Given the description of an element on the screen output the (x, y) to click on. 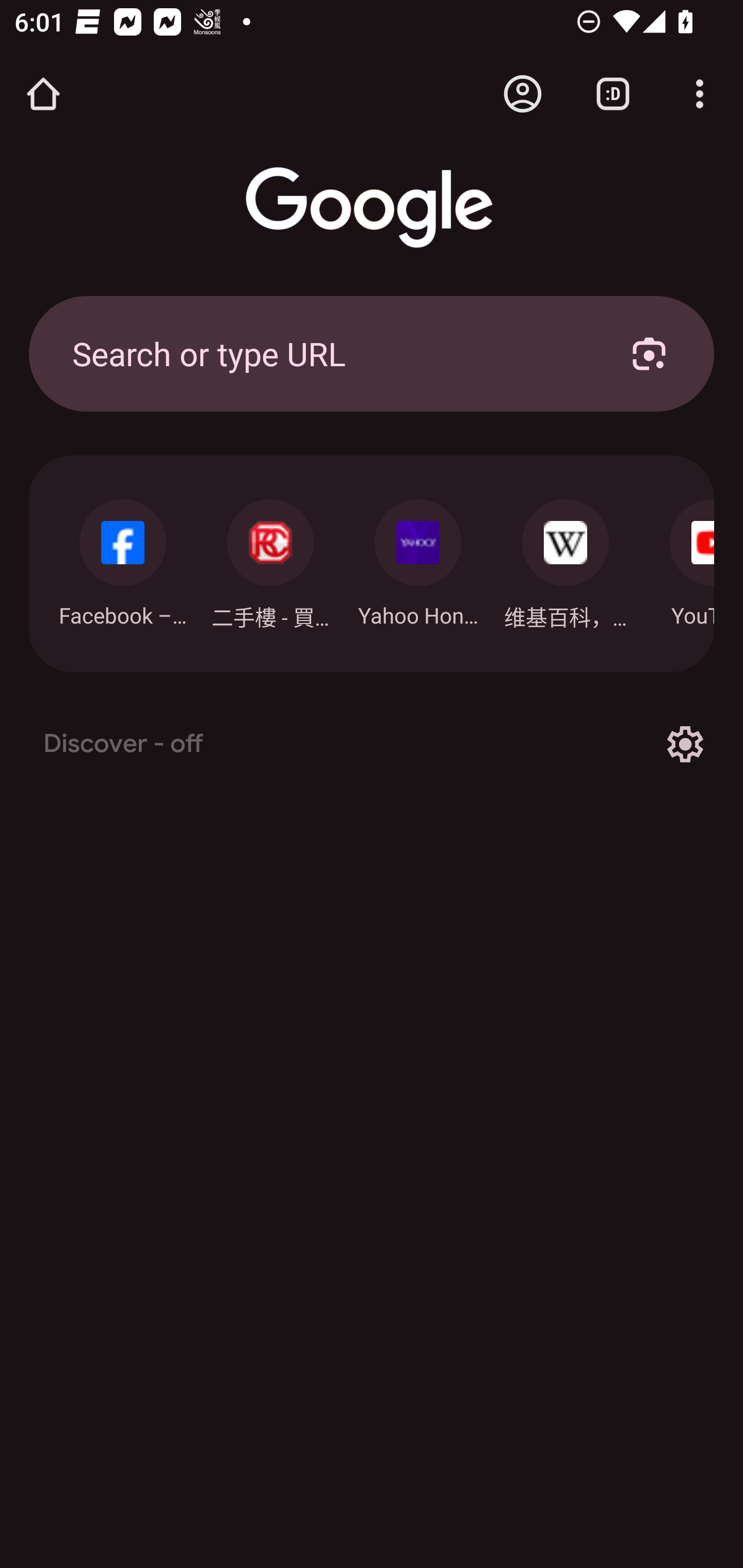
Open the home page (43, 93)
Switch or close tabs (612, 93)
Customize and control Google Chrome (699, 93)
Search or type URL (327, 353)
Search with your camera using Google Lens (648, 353)
Options for Discover (684, 743)
